Given the description of an element on the screen output the (x, y) to click on. 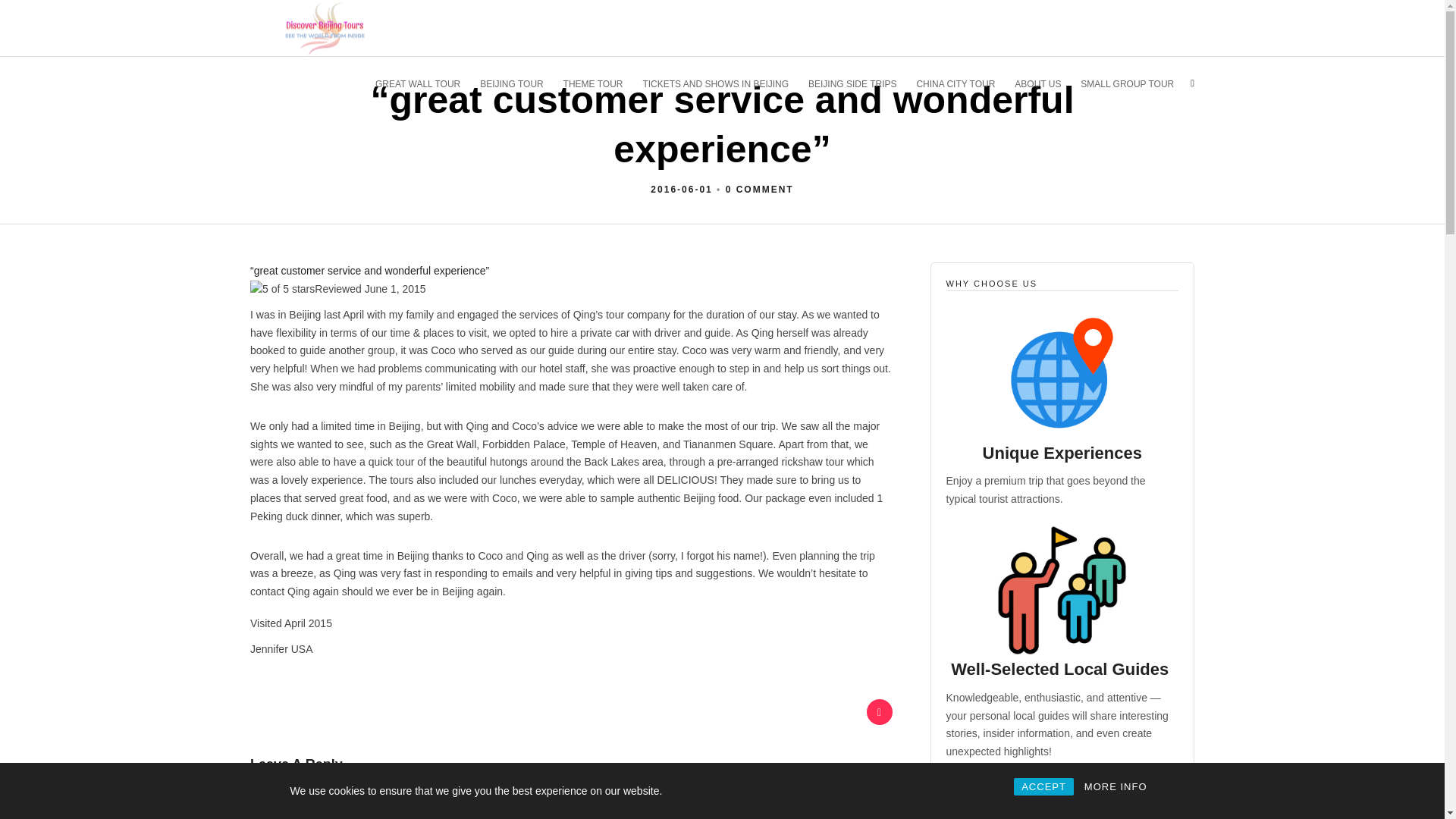
ABOUT US (1044, 83)
TICKETS AND SHOWS IN BEIJING (722, 83)
BEIJING SIDE TRIPS (858, 83)
BEIJING TOUR (518, 83)
2016-06-01 (680, 189)
0 COMMENT (759, 189)
GREAT WALL TOUR (424, 83)
ACCEPT (1043, 786)
SMALL GROUP TOUR (1133, 83)
THEME TOUR (599, 83)
MORE INFO (1115, 786)
CHINA CITY TOUR (961, 83)
